Given the description of an element on the screen output the (x, y) to click on. 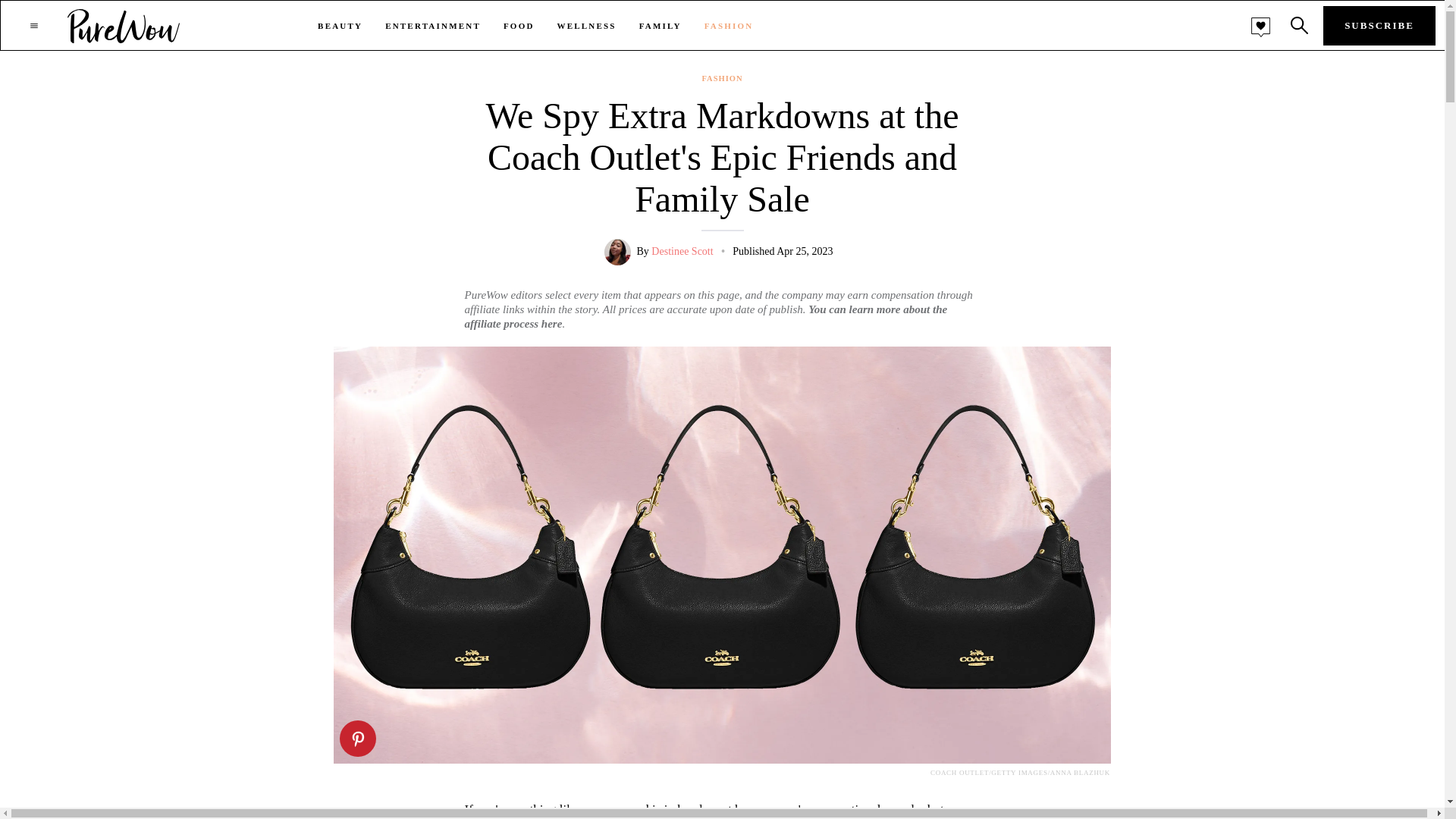
ENTERTAINMENT (432, 25)
PureWow (123, 25)
Destinee Scott (681, 251)
You can learn more about the affiliate process here (705, 316)
FOOD (518, 25)
FASHION (721, 78)
BEAUTY (339, 25)
WELLNESS (586, 25)
FASHION (729, 25)
FAMILY (660, 25)
